Given the description of an element on the screen output the (x, y) to click on. 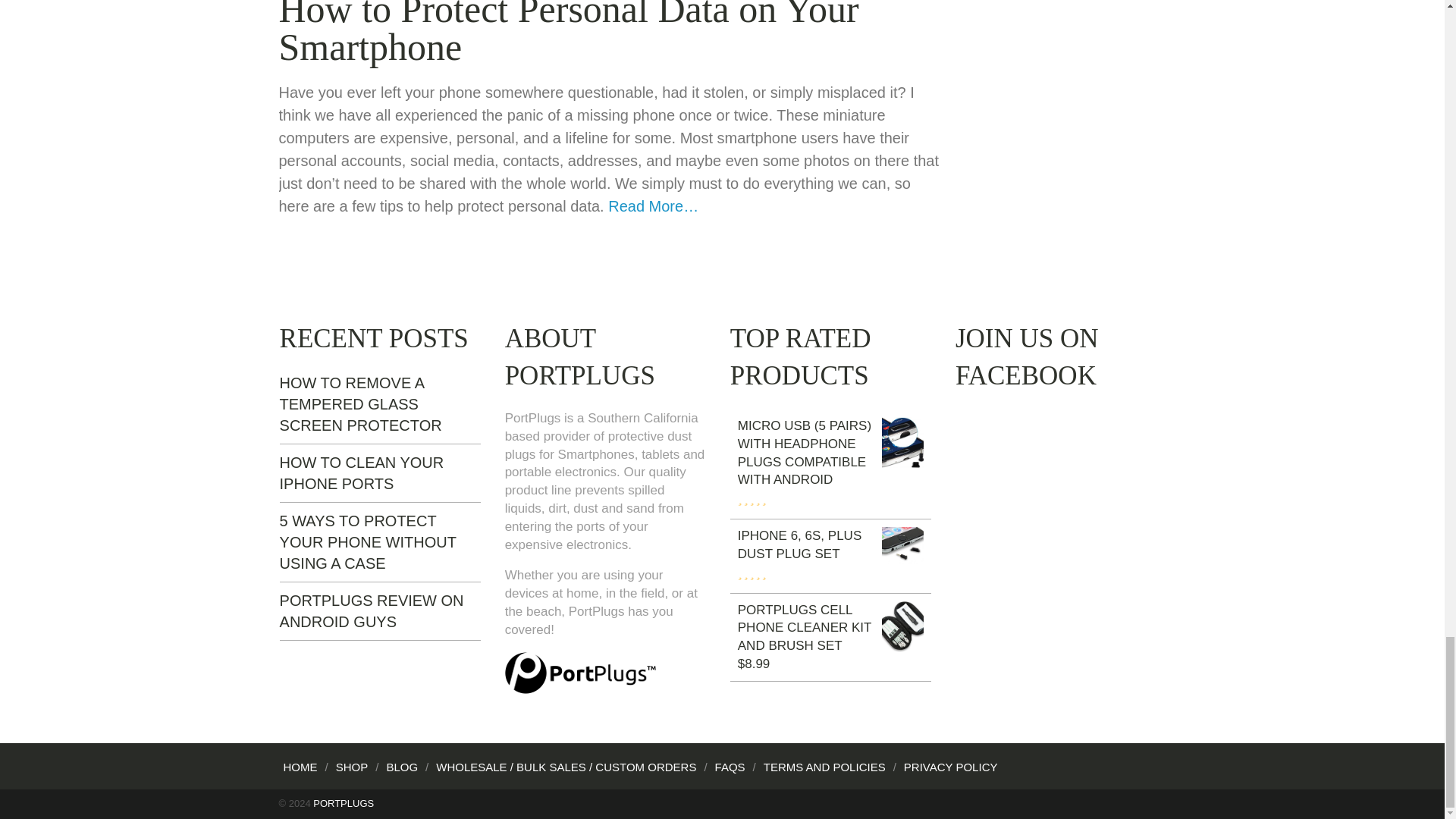
HOW TO CLEAN YOUR IPHONE PORTS (361, 473)
HOW TO REMOVE A TEMPERED GLASS SCREEN PROTECTOR (360, 404)
How to Protect Personal Data on Your Smartphone (569, 33)
5 WAYS TO PROTECT YOUR PHONE WITHOUT USING A CASE (368, 541)
